Given the description of an element on the screen output the (x, y) to click on. 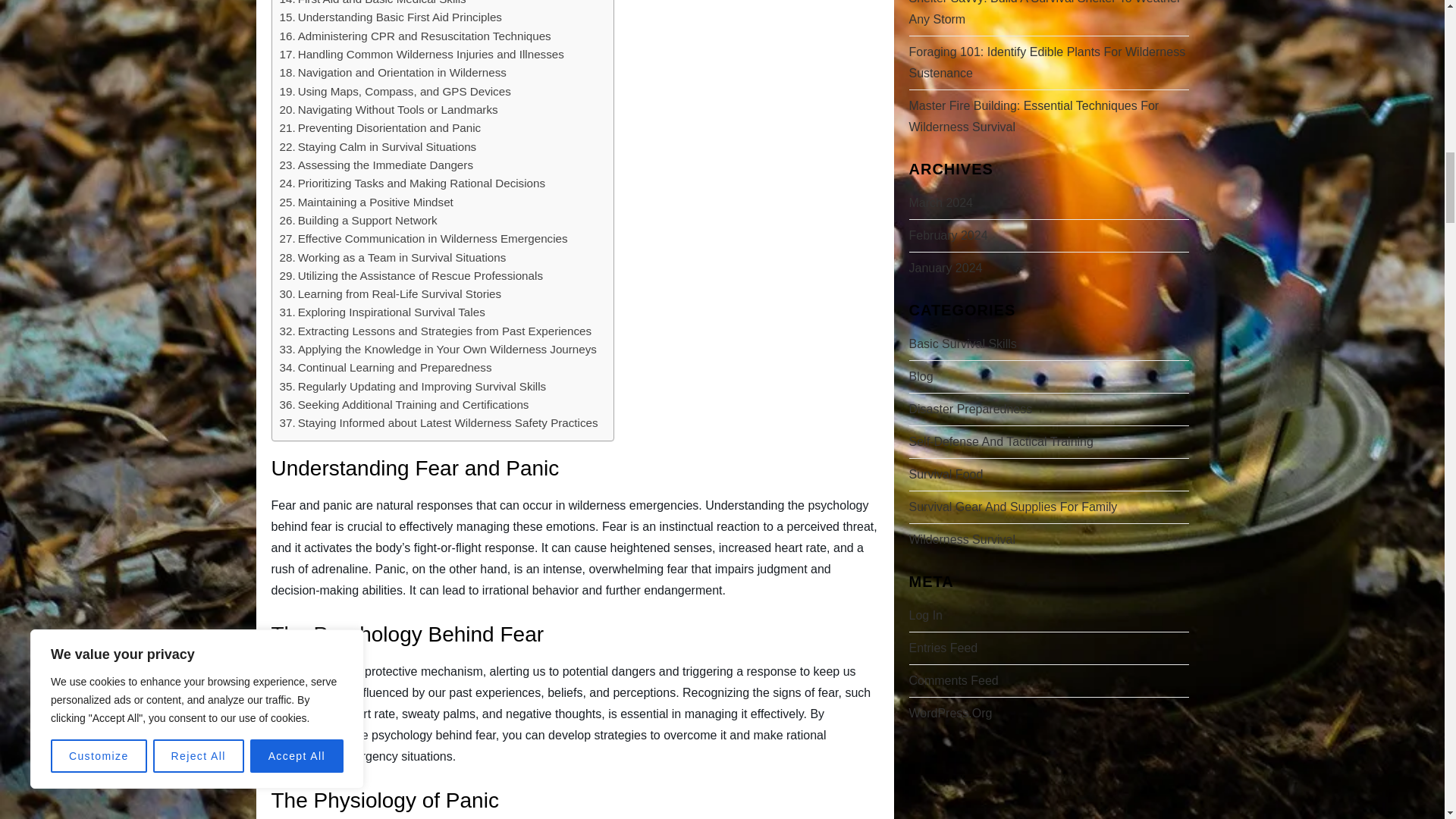
Administering CPR and Resuscitation Techniques (414, 36)
Understanding Basic First Aid Principles (389, 17)
First Aid and Basic Medical Skills (372, 4)
Handling Common Wilderness Injuries and Illnesses (421, 54)
